Given the description of an element on the screen output the (x, y) to click on. 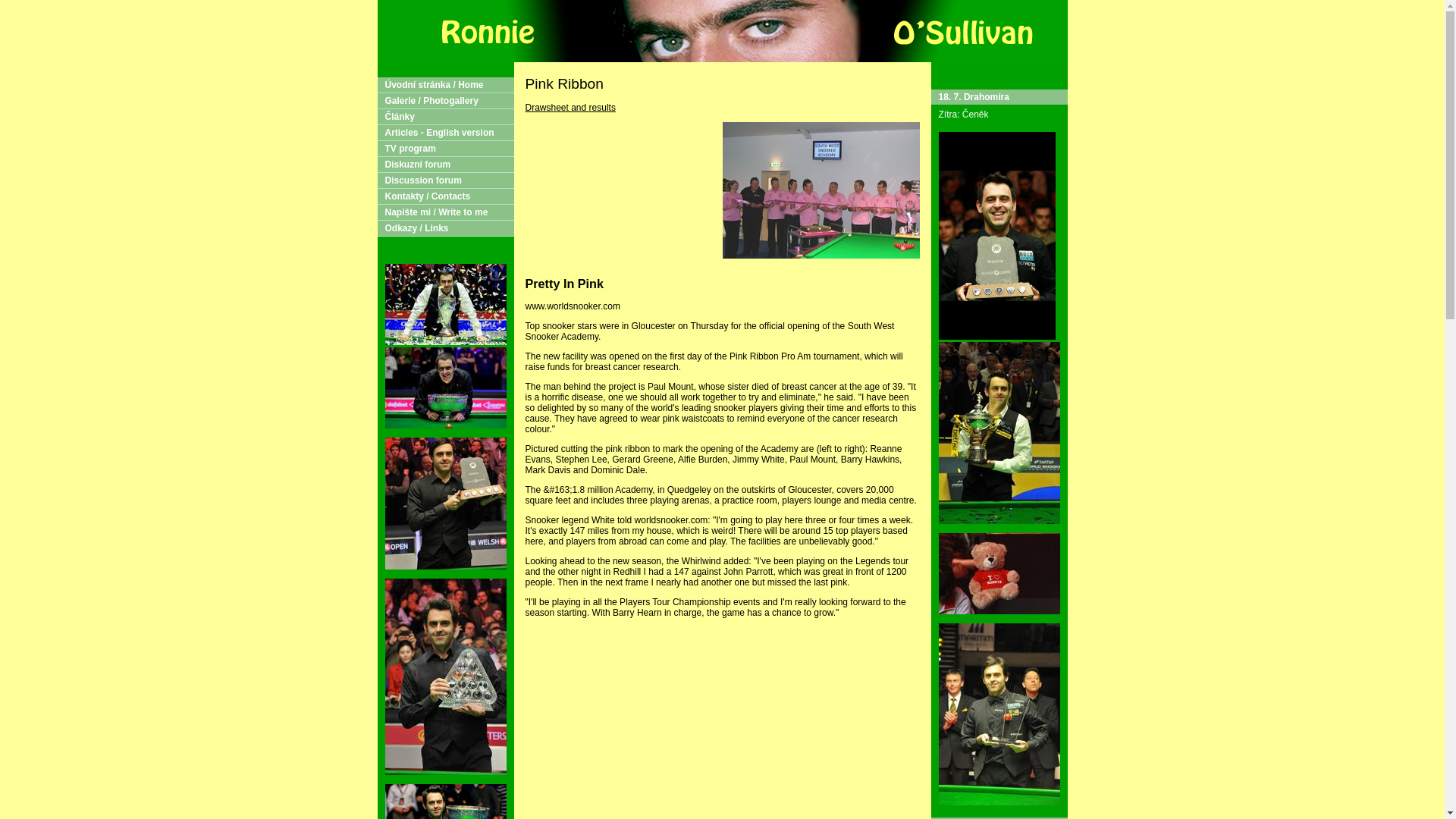
Drawsheet and results (569, 107)
